Given the description of an element on the screen output the (x, y) to click on. 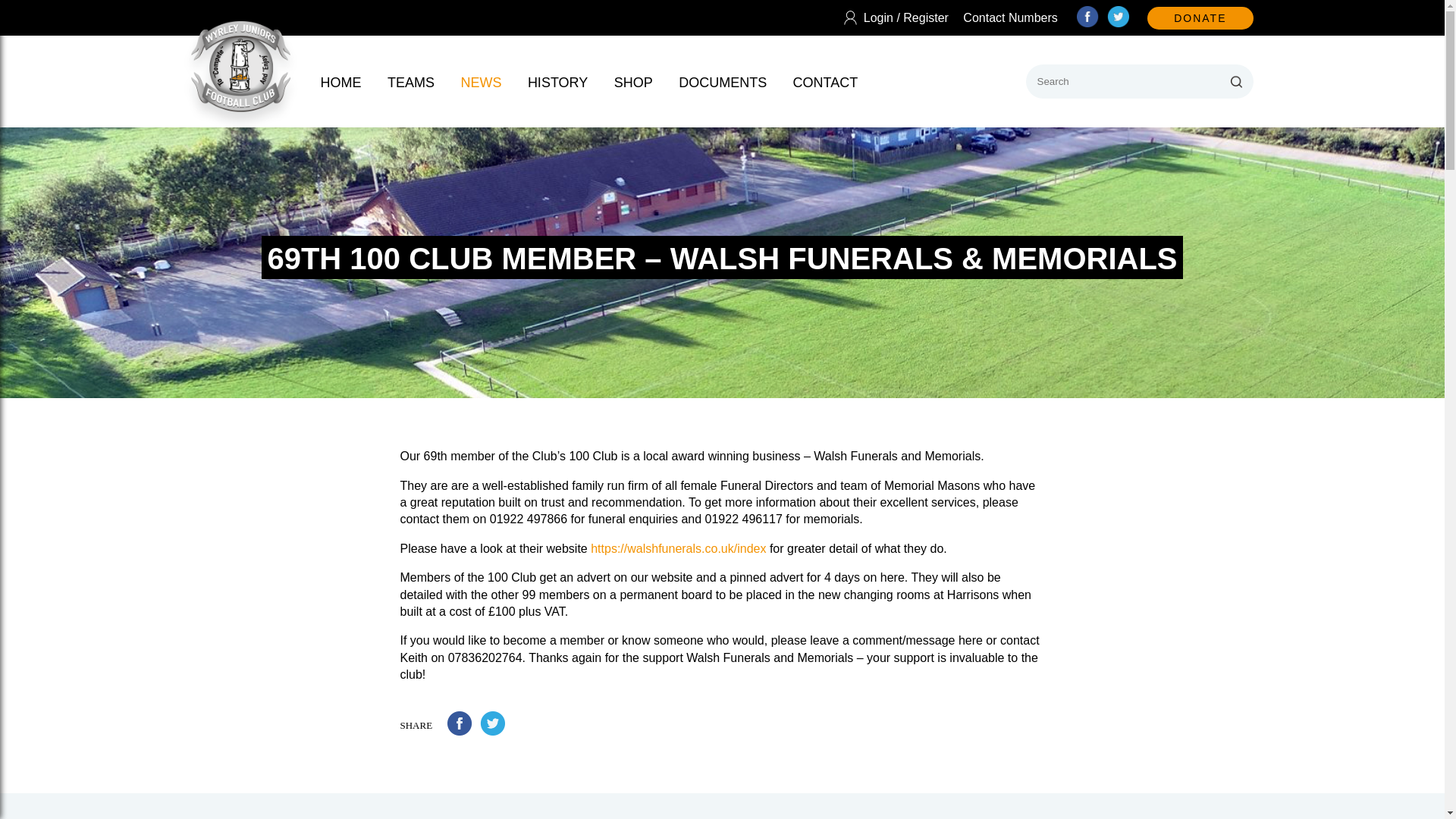
NEWS (480, 82)
HISTORY (557, 82)
DOCUMENTS (722, 82)
HOME (340, 82)
Search (1235, 81)
Contact Numbers (1010, 17)
CONTACT (826, 82)
SHOP (633, 82)
TEAMS (410, 82)
Search (1235, 81)
DONATE (1199, 17)
